Given the description of an element on the screen output the (x, y) to click on. 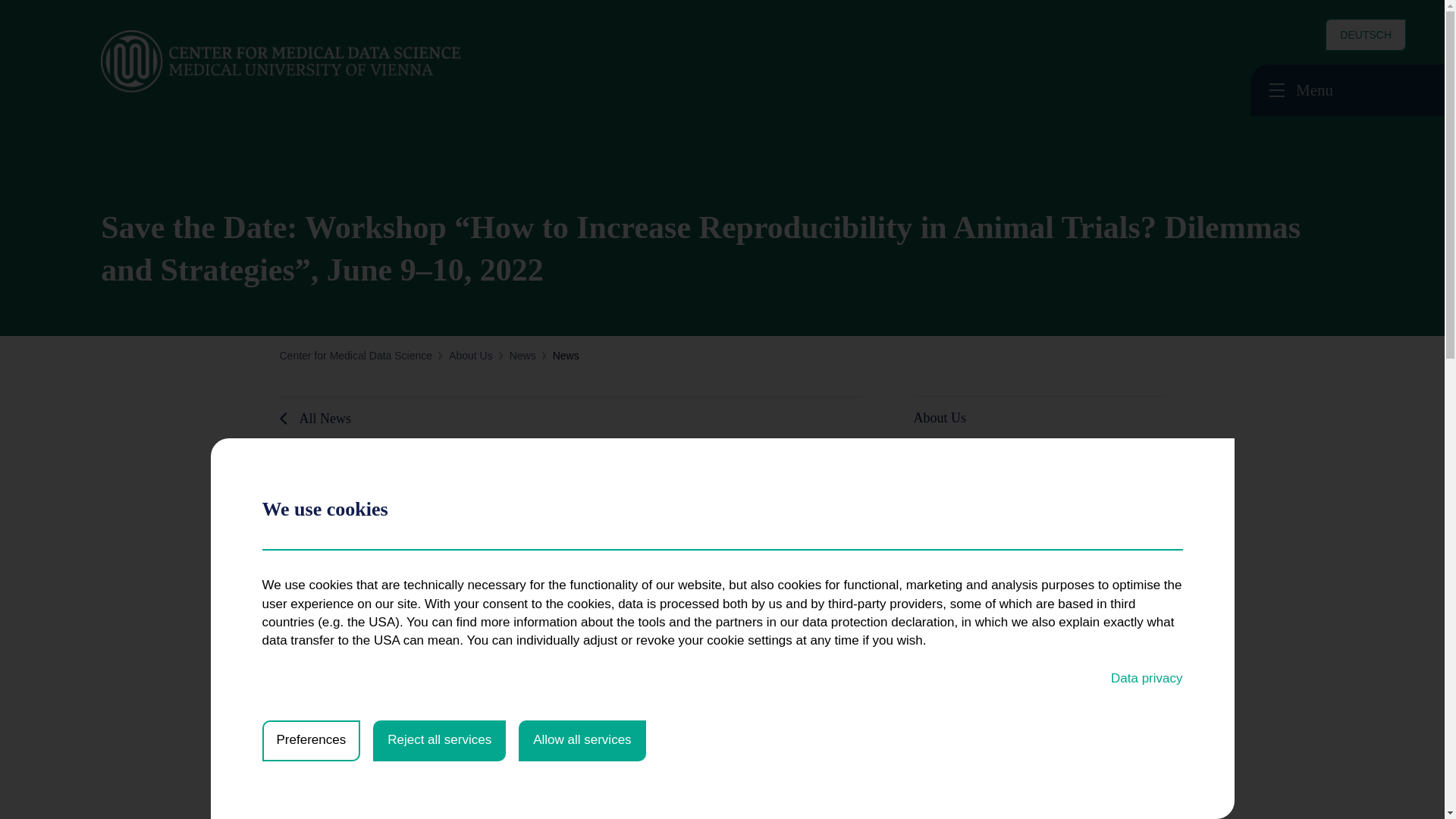
Center for Medical Data Science (355, 355)
Center for Medical Data Science (355, 355)
Center for Medical Data Science (328, 62)
The Center (957, 454)
Staff Members (966, 522)
Open Positions (967, 554)
Center for Medical Data Science (312, 62)
News (941, 488)
News (522, 355)
DEUTSCH (1365, 34)
